Given the description of an element on the screen output the (x, y) to click on. 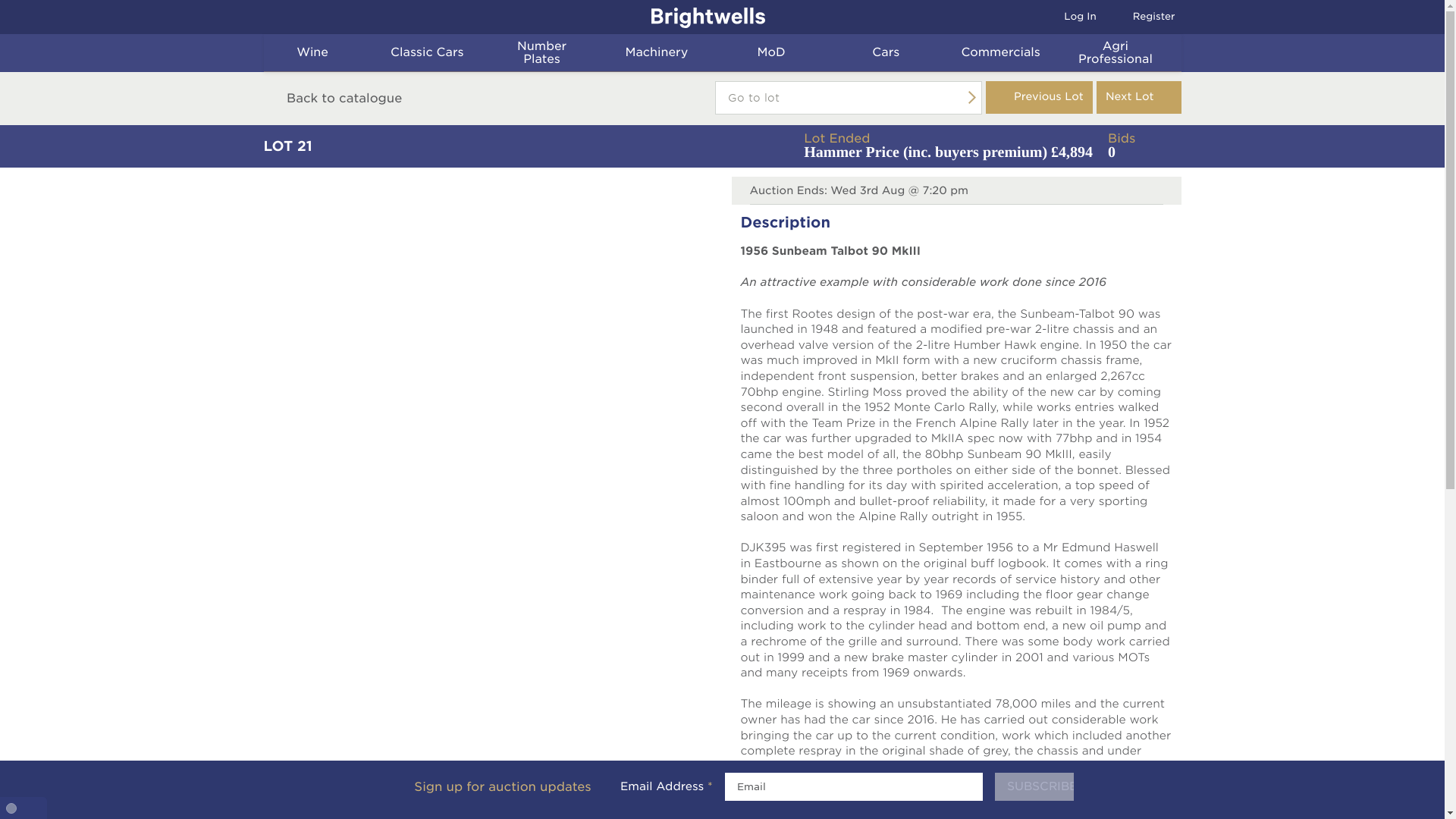
Subscribe (1034, 786)
Register (1135, 17)
Toggle next nav section (363, 52)
Log In (1070, 17)
register icon (435, 53)
Toggle next nav section (1120, 16)
mailing list icon (320, 53)
login icon (478, 52)
